Given the description of an element on the screen output the (x, y) to click on. 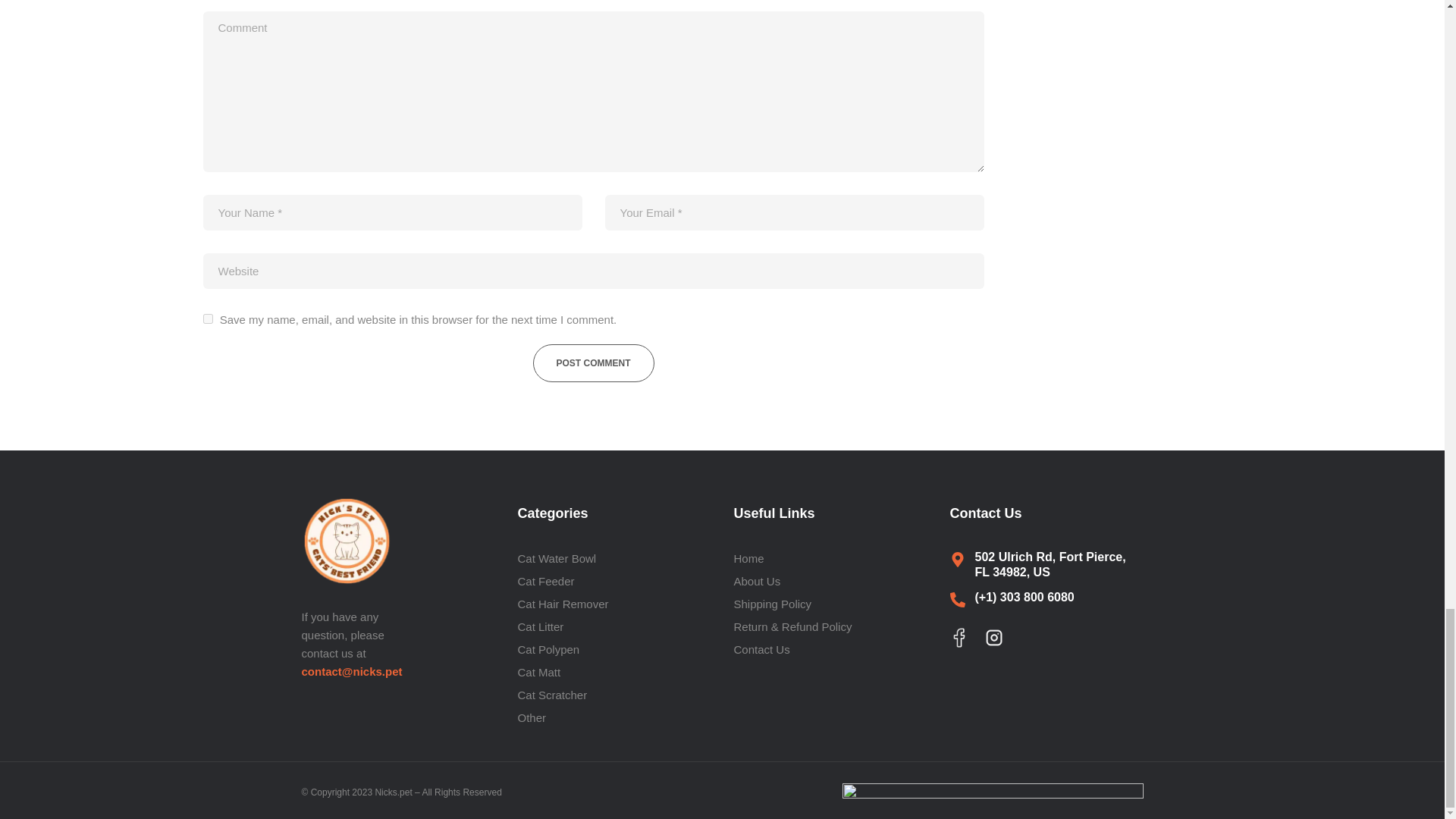
yes (207, 318)
Post Comment (592, 362)
